Given the description of an element on the screen output the (x, y) to click on. 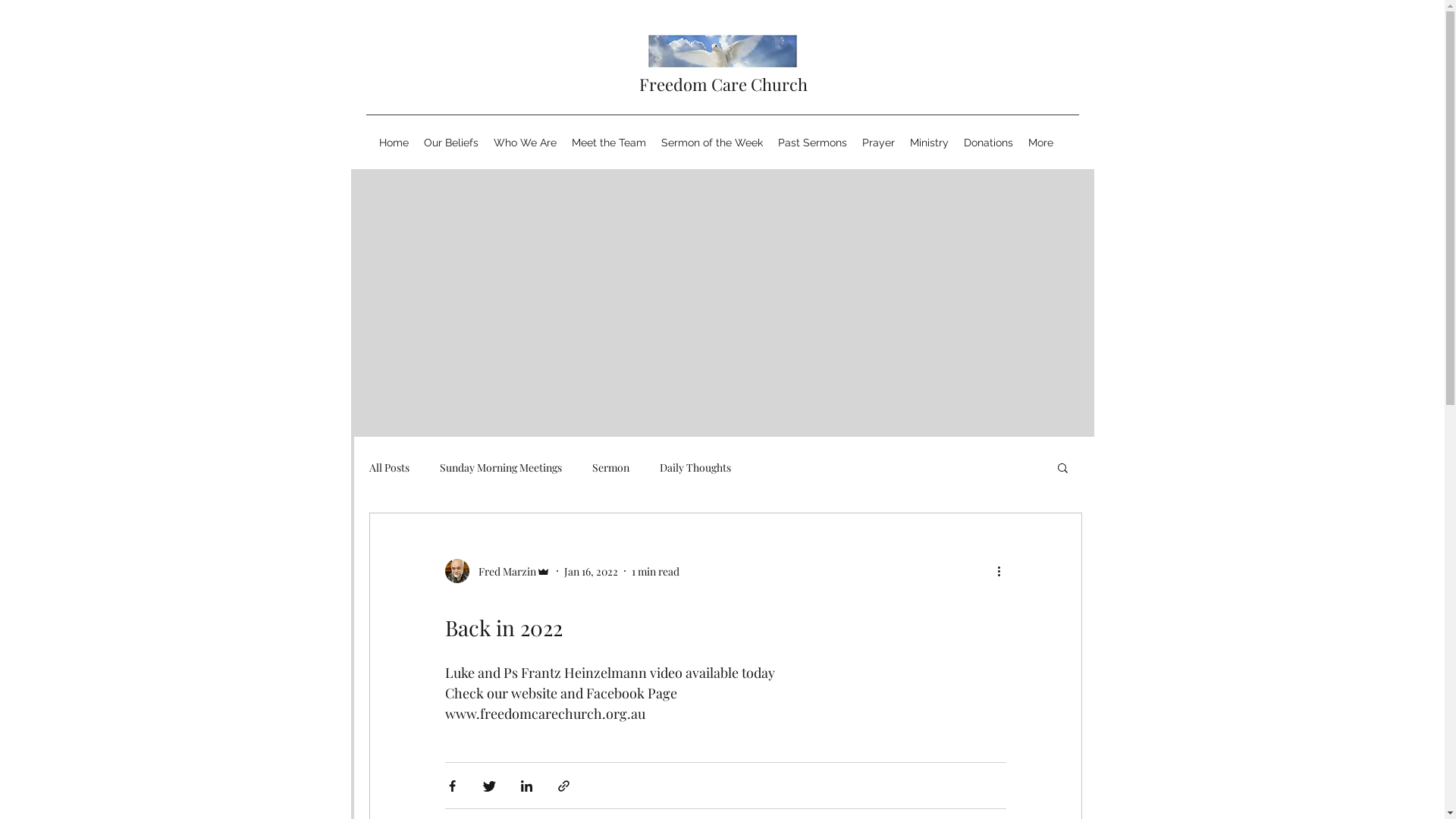
Our Beliefs Element type: text (451, 142)
Ministry Element type: text (929, 142)
Donations Element type: text (988, 142)
Prayer Element type: text (878, 142)
Home Element type: text (393, 142)
Who We Are Element type: text (525, 142)
All Posts Element type: text (388, 467)
Sermon Element type: text (609, 467)
Sermon of the Week Element type: text (711, 142)
Sunday Morning Meetings Element type: text (500, 467)
Daily Thoughts Element type: text (695, 467)
Meet the Team Element type: text (608, 142)
Fred Marzin Element type: text (496, 570)
Freedom Care Church Element type: text (723, 83)
Past Sermons Element type: text (812, 142)
